Given the description of an element on the screen output the (x, y) to click on. 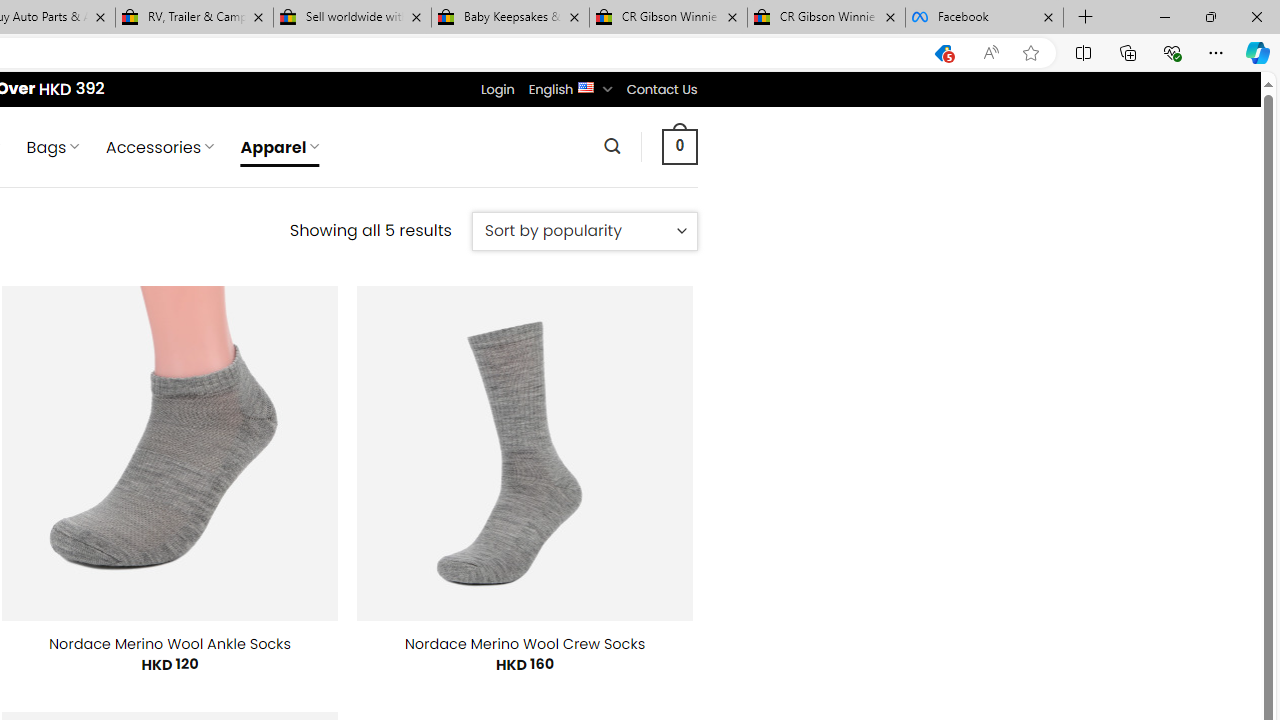
Baby Keepsakes & Announcements for sale | eBay (509, 17)
Sell worldwide with eBay (352, 17)
English (586, 86)
Contact Us (661, 89)
This site has coupons! Shopping in Microsoft Edge, 5 (943, 53)
